Given the description of an element on the screen output the (x, y) to click on. 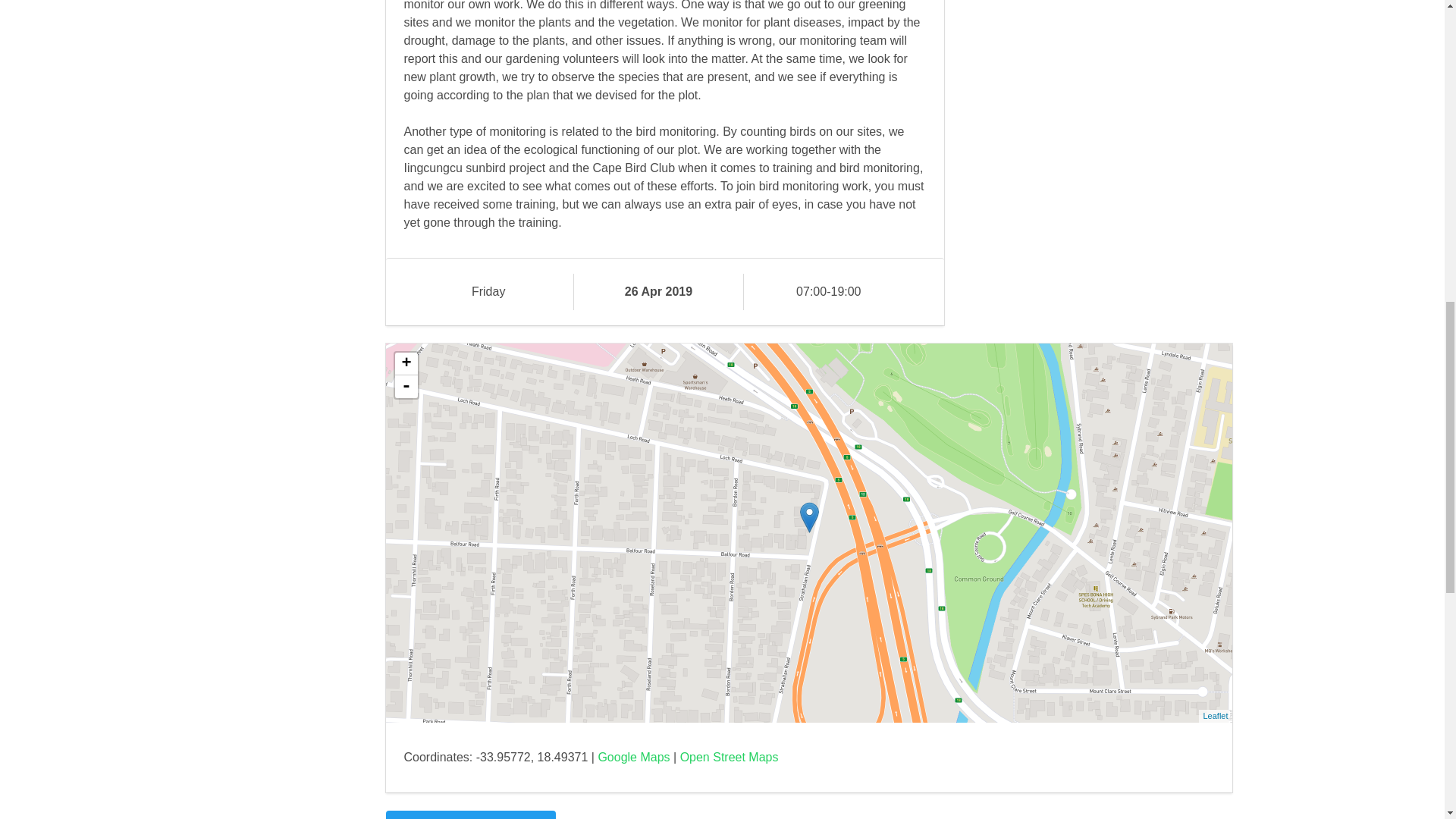
Zoom in (405, 363)
A JS library for interactive maps (1214, 715)
Zoom out (405, 386)
